Given the description of an element on the screen output the (x, y) to click on. 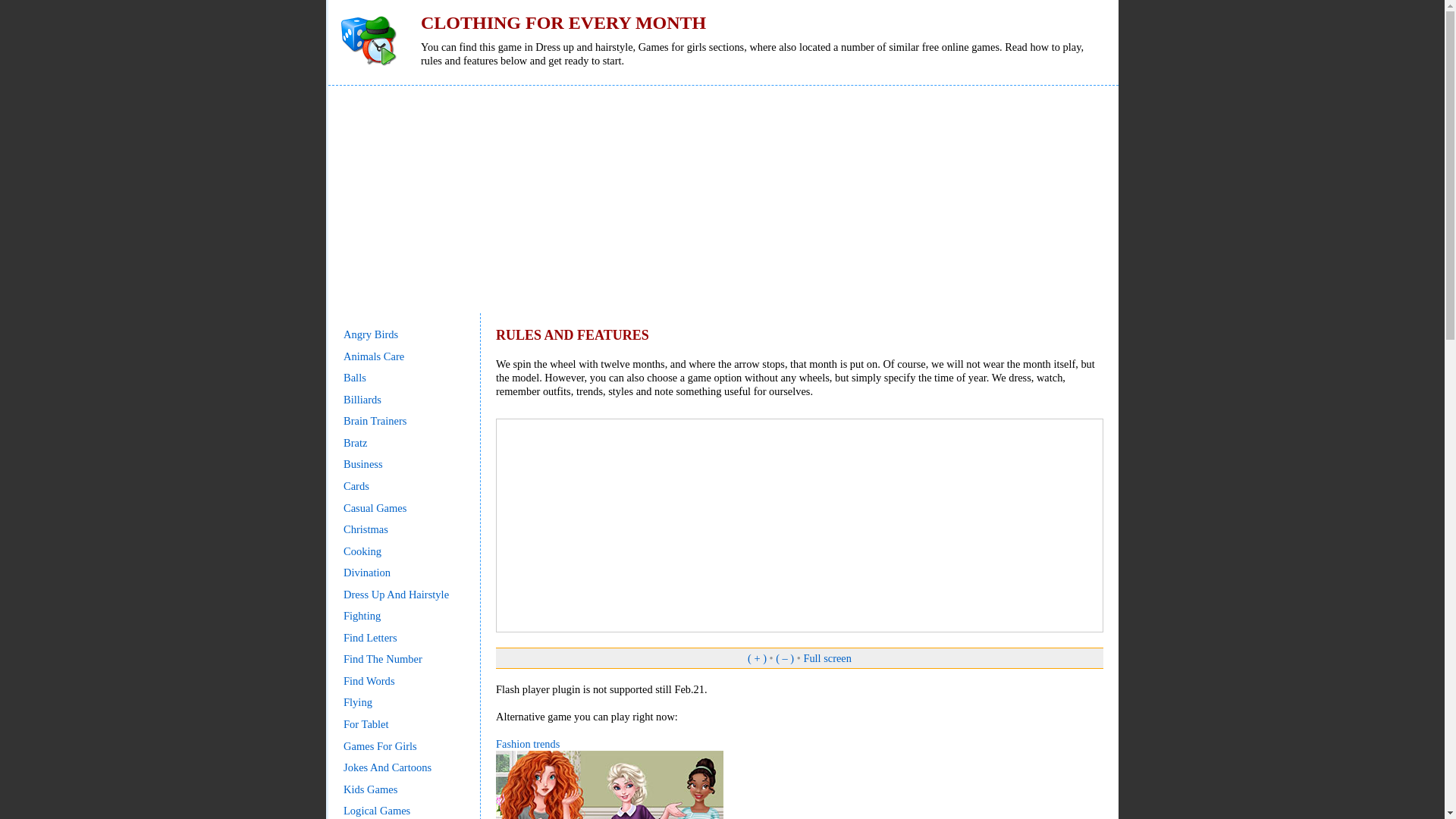
Bratz (354, 442)
Billiards (362, 399)
Decrease size (784, 657)
Balls (354, 377)
Increase size (757, 657)
Brain Trainers (374, 420)
Full screen mode (827, 657)
Angry Birds (370, 334)
Full screen (827, 657)
